Given the description of an element on the screen output the (x, y) to click on. 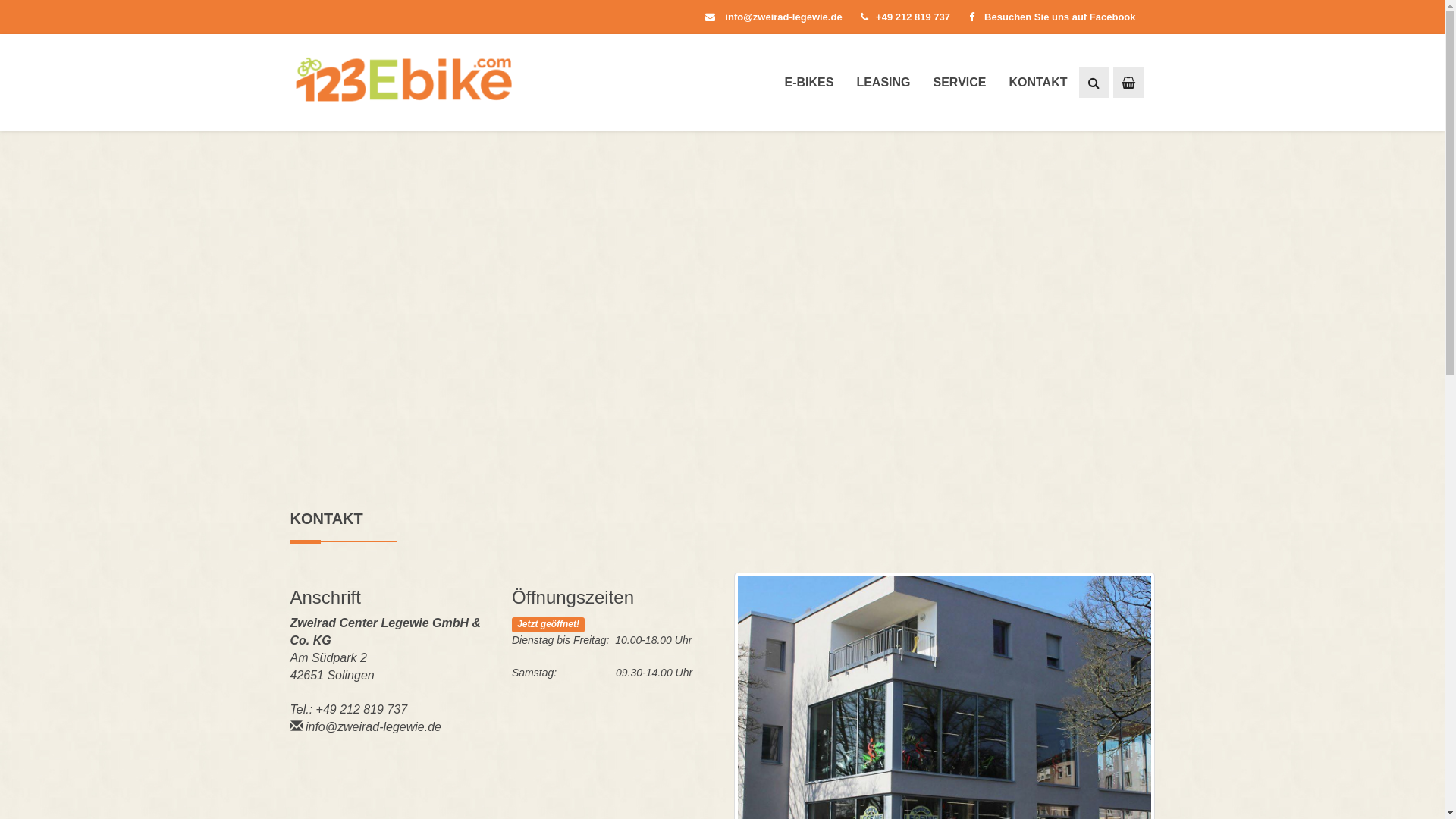
SERVICE Element type: text (959, 82)
LEASING Element type: text (882, 82)
E-BIKES Element type: text (808, 82)
info@zweirad-legewie.de Element type: text (373, 726)
info@zweirad-legewie.de Element type: text (773, 16)
Besuchen Sie uns auf Facebook Element type: text (1056, 16)
KONTAKT Element type: text (1037, 82)
